Given the description of an element on the screen output the (x, y) to click on. 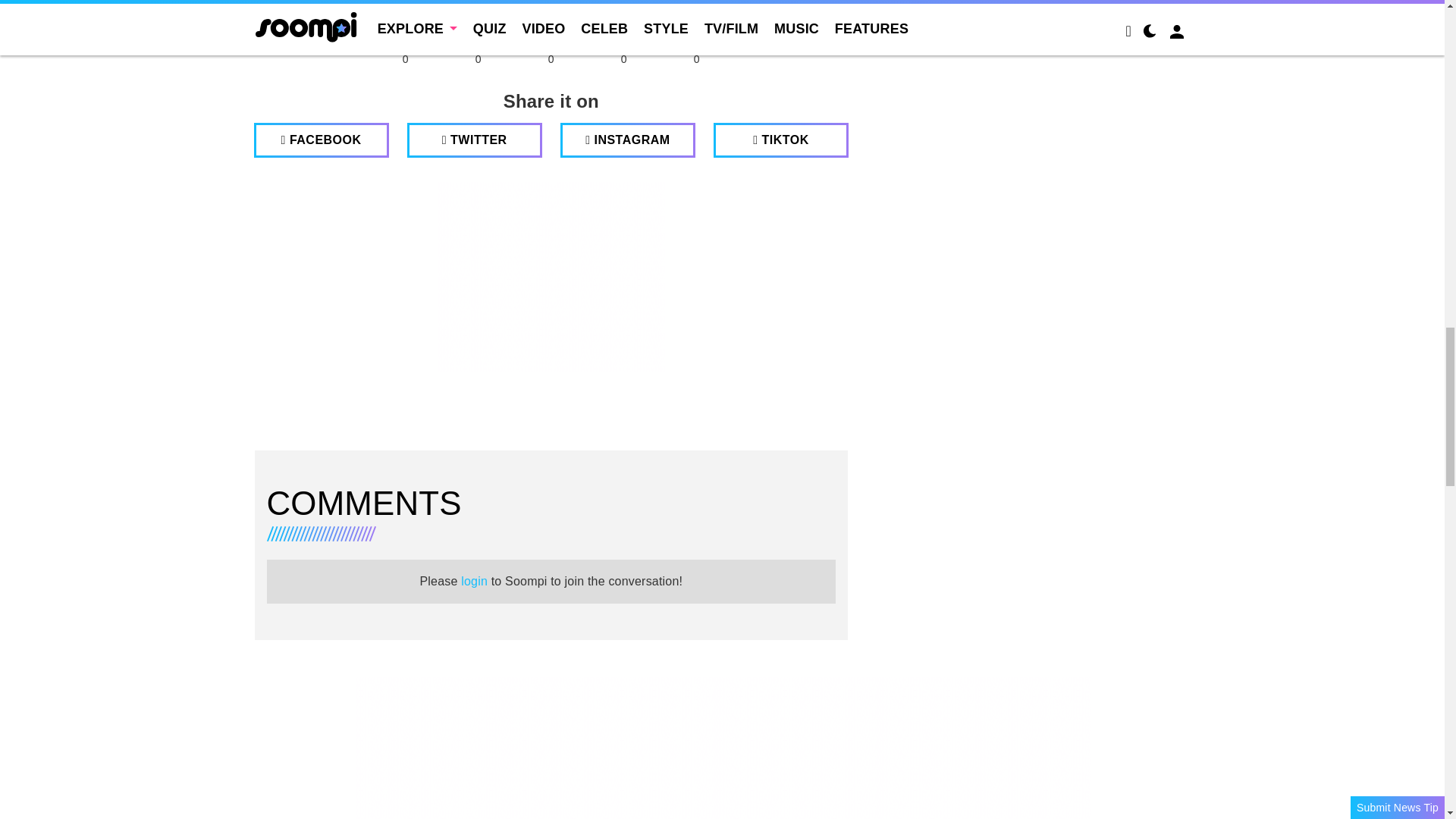
fire (550, 21)
heart (405, 21)
FACEBOOK (320, 140)
cry (623, 21)
LOL (478, 21)
TWITTER (474, 140)
Fire (550, 21)
Heart (405, 21)
Crying (623, 21)
lol (478, 21)
omg (696, 21)
OMG (696, 21)
3rd party ad content (551, 276)
